Given the description of an element on the screen output the (x, y) to click on. 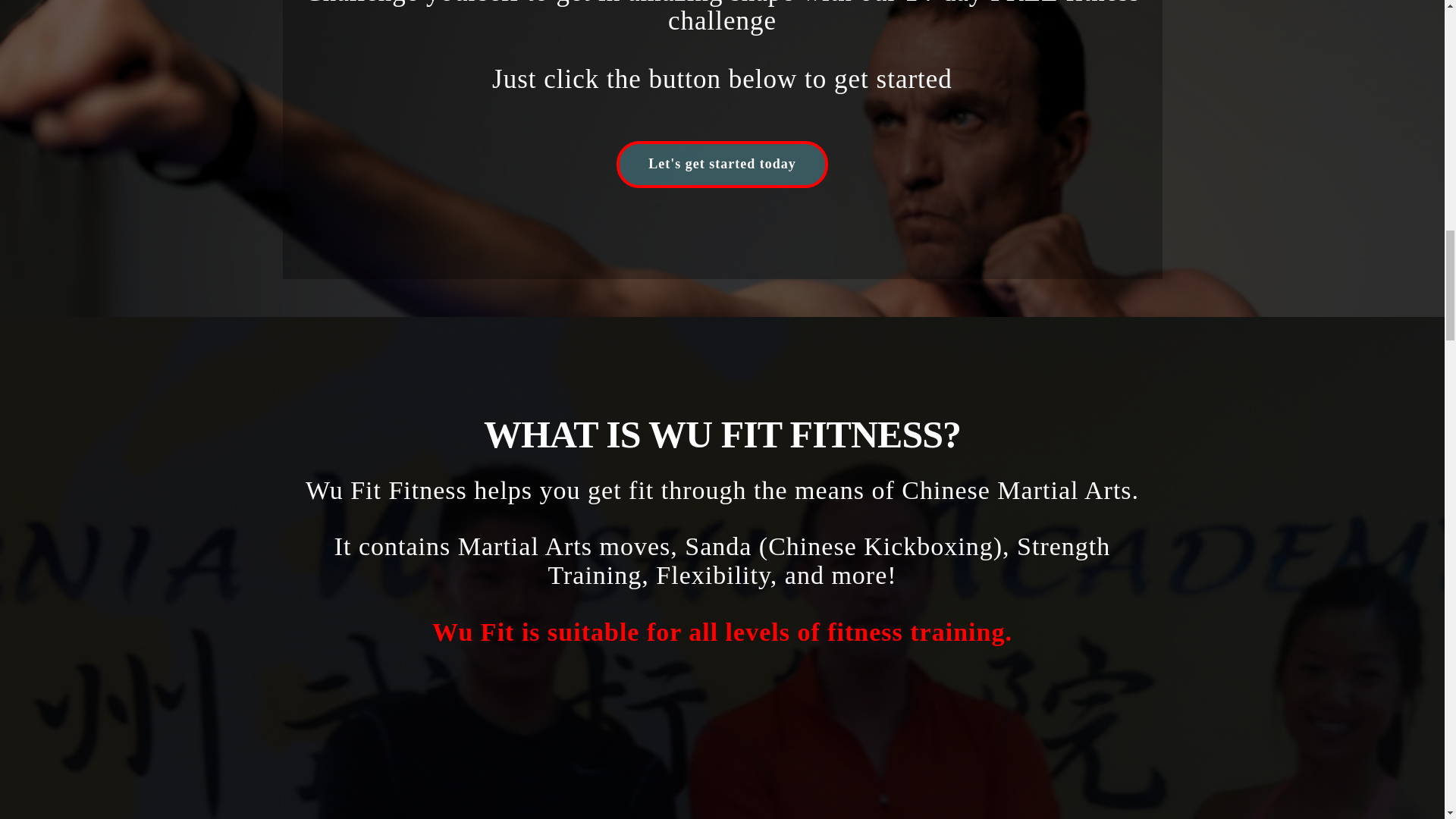
Let's get started today (721, 164)
